Given the description of an element on the screen output the (x, y) to click on. 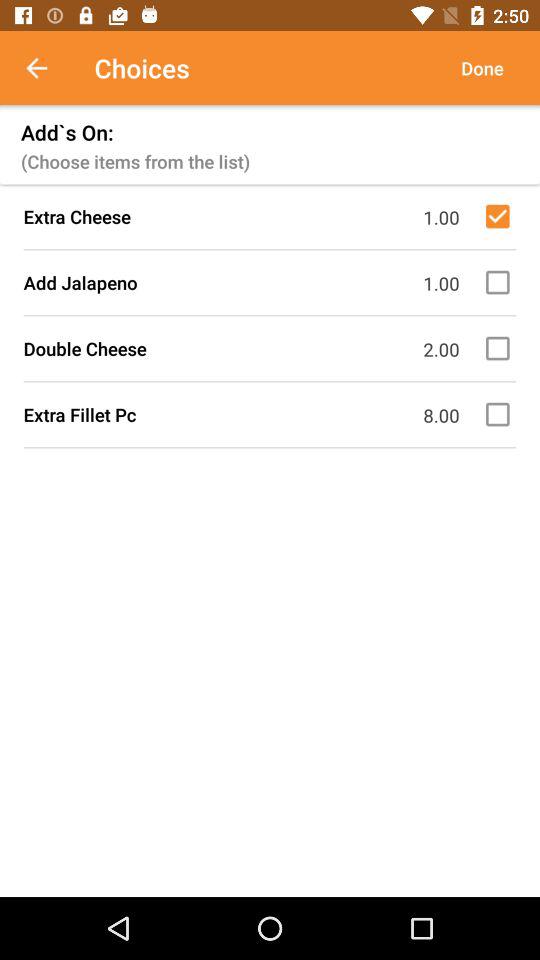
this is food items (501, 282)
